Given the description of an element on the screen output the (x, y) to click on. 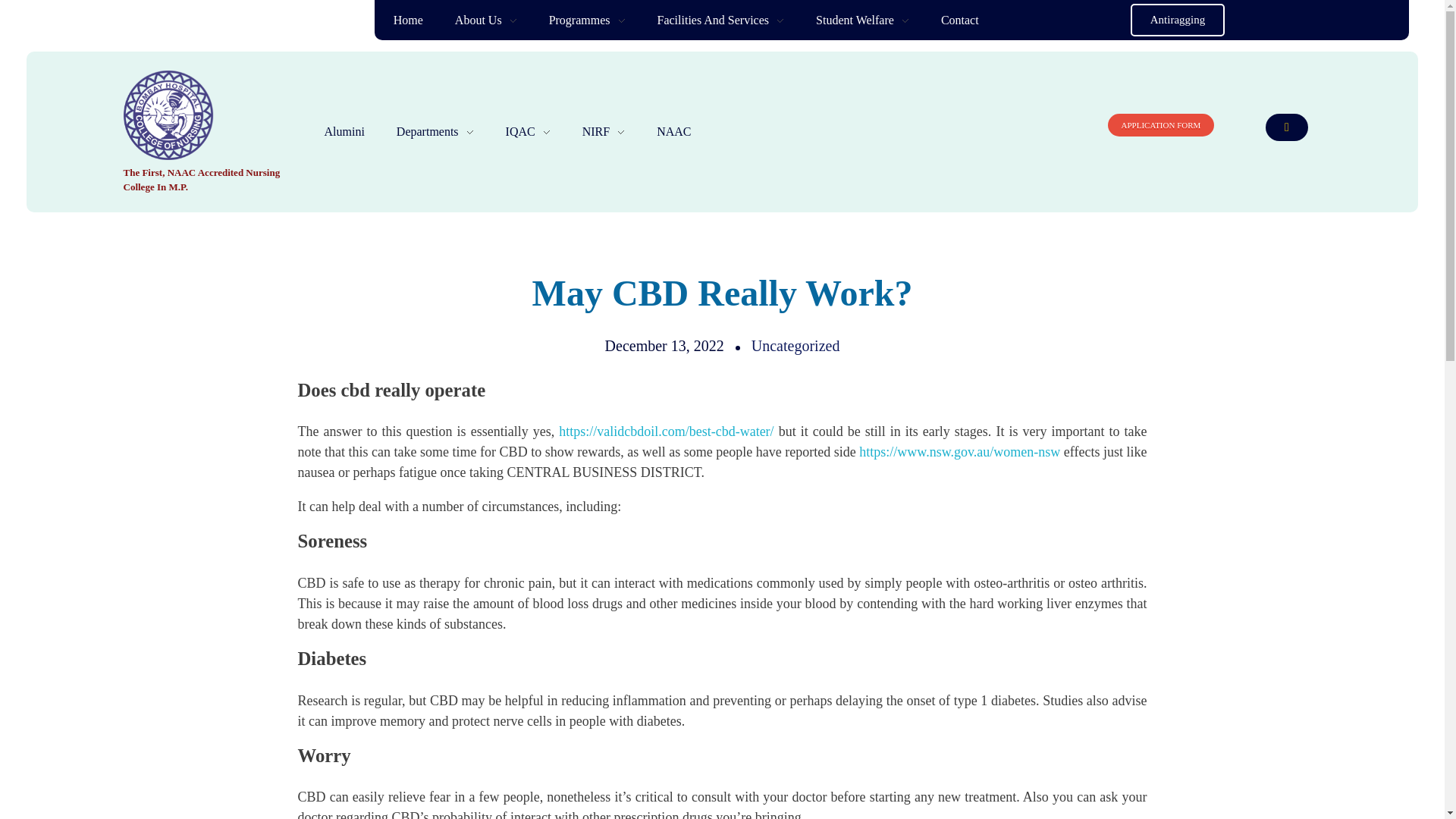
Programmes (587, 19)
View all posts in Uncategorized (795, 345)
BHI Nursing College (191, 115)
Home (416, 19)
BHI Nursing College (210, 168)
Facilities And Services (721, 19)
Student Welfare (861, 19)
About Us (485, 19)
